Given the description of an element on the screen output the (x, y) to click on. 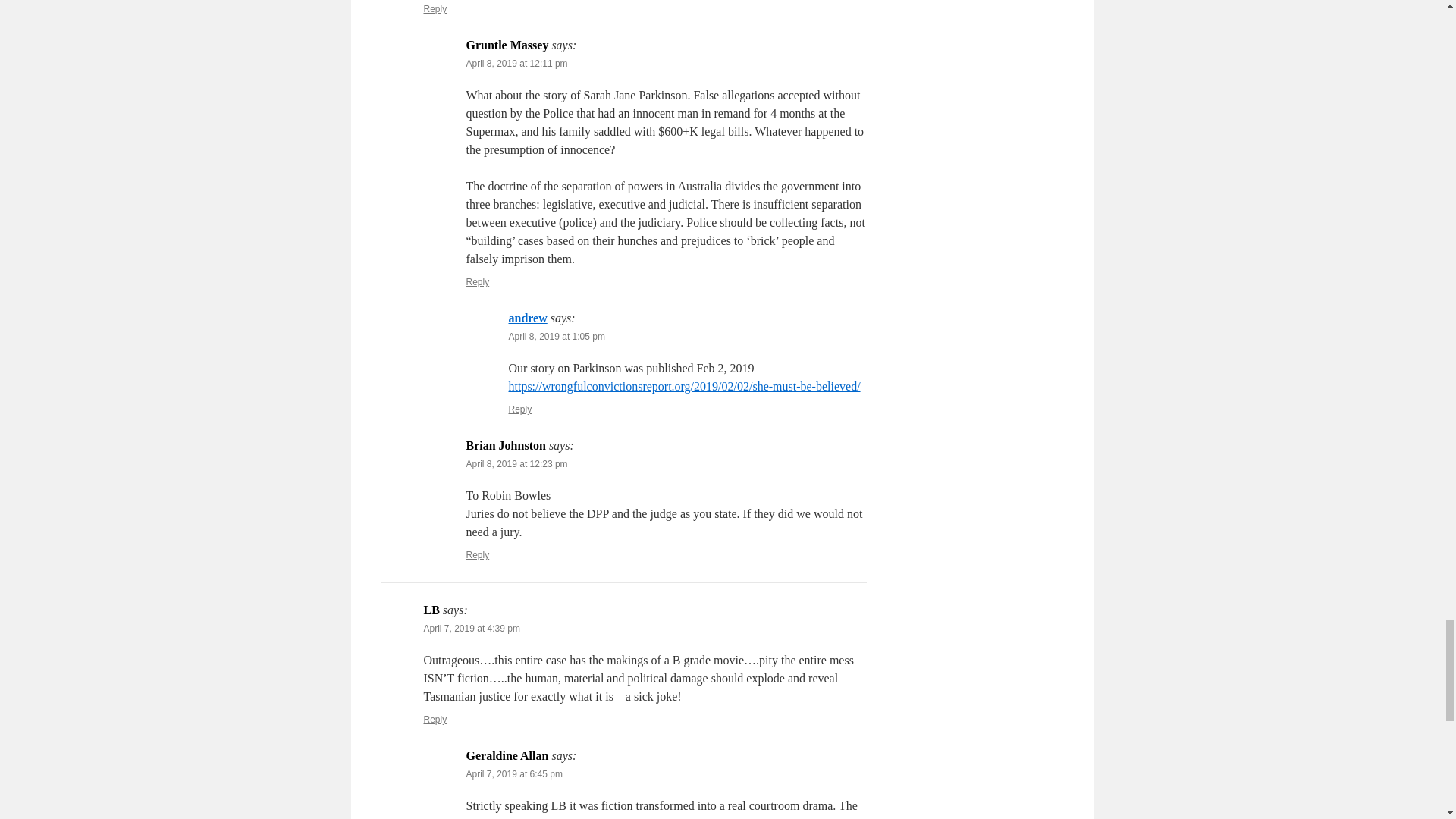
Reply (434, 9)
April 8, 2019 at 1:05 pm (556, 336)
April 8, 2019 at 12:11 pm (516, 63)
Reply (477, 281)
andrew (527, 318)
